Given the description of an element on the screen output the (x, y) to click on. 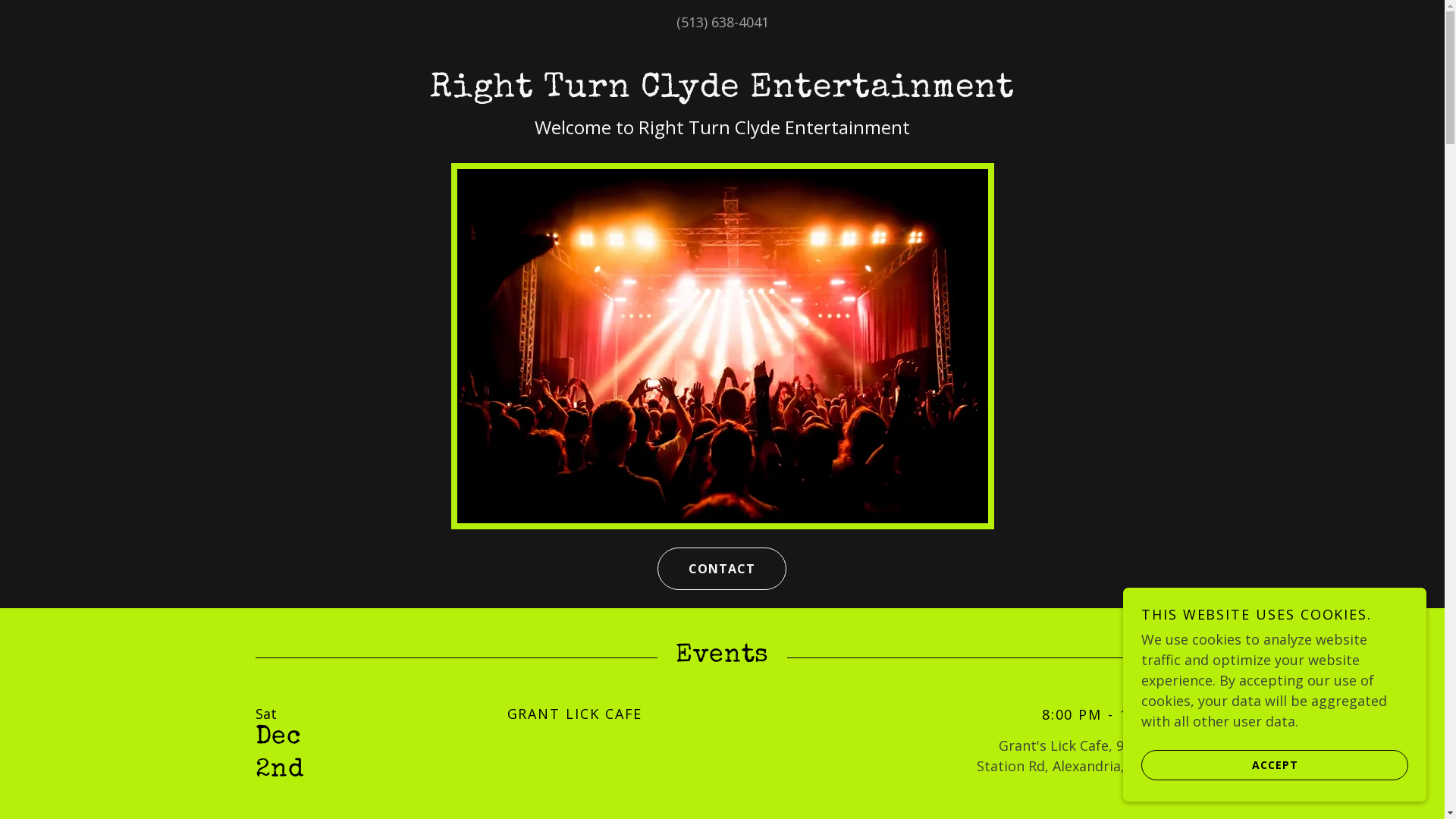
ACCEPT Element type: text (1274, 764)
CONTACT Element type: text (721, 568)
(513) 638-4041 Element type: text (722, 21)
Right Turn Clyde Entertainment Element type: text (721, 90)
